Given the description of an element on the screen output the (x, y) to click on. 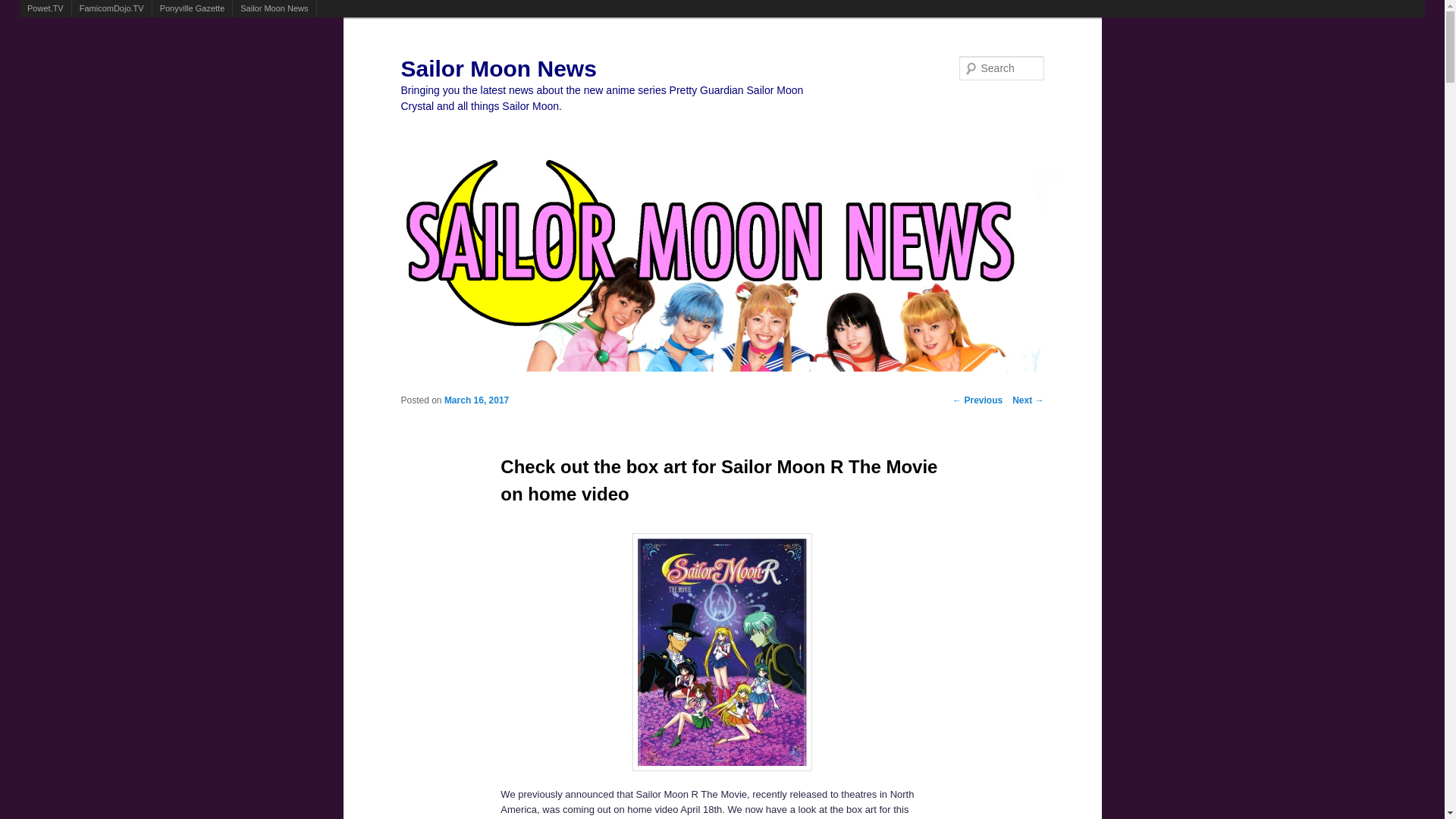
Sailor Moon News (273, 8)
March 16, 2017 (476, 399)
Search (21, 7)
Skip to primary content (462, 386)
Sailor Moon News (497, 68)
Sailor Moon News (497, 68)
Skip to primary content (462, 386)
7:31 pm (476, 399)
Ponyville Gazette (192, 8)
Powet.TV (45, 8)
Skip to secondary content (468, 386)
Skip to secondary content (468, 386)
FamicomDojo.TV (111, 8)
